Given the description of an element on the screen output the (x, y) to click on. 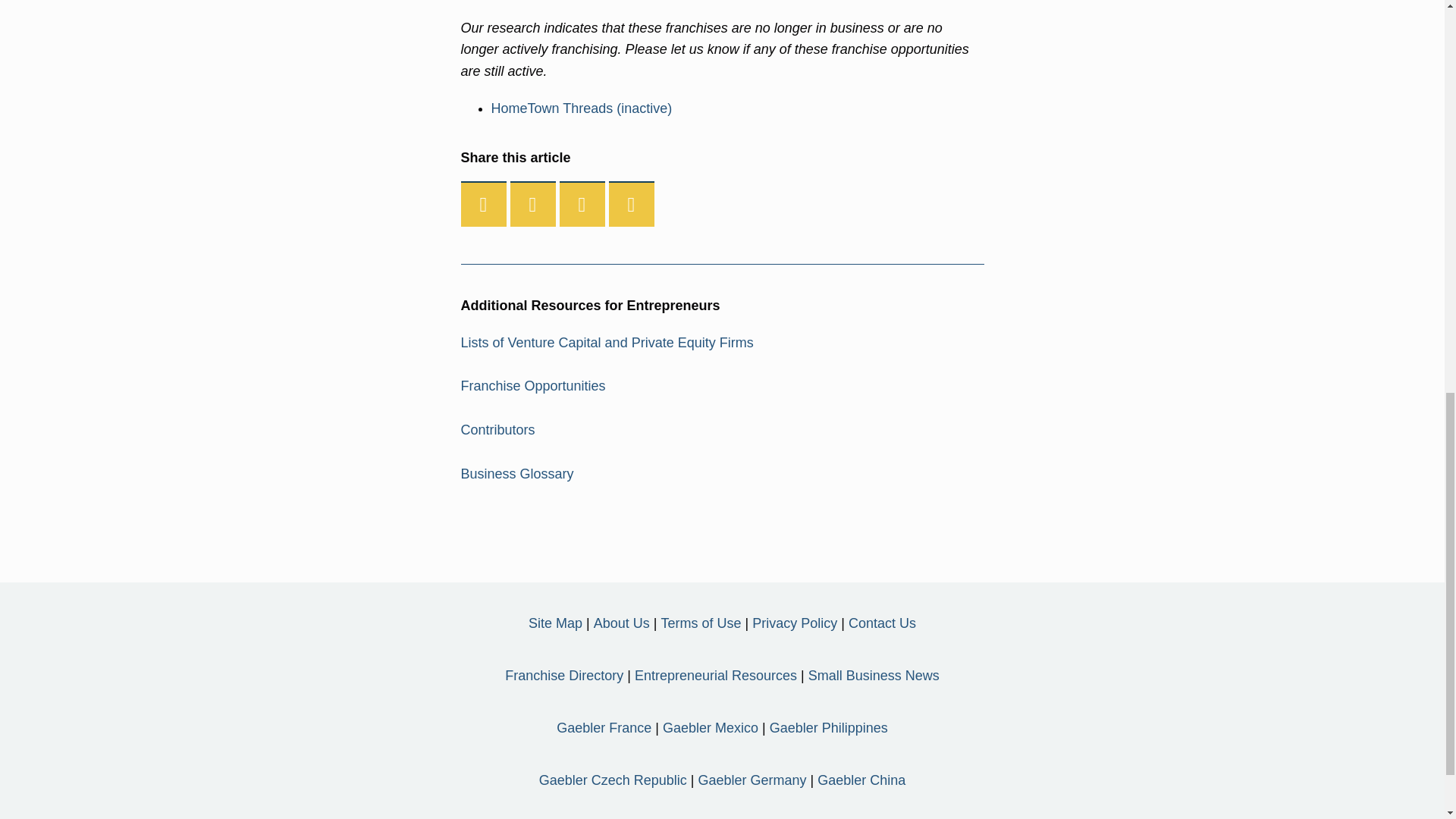
Twitter (533, 204)
Facebook (483, 204)
Linkedin (582, 204)
Email (630, 204)
